Given the description of an element on the screen output the (x, y) to click on. 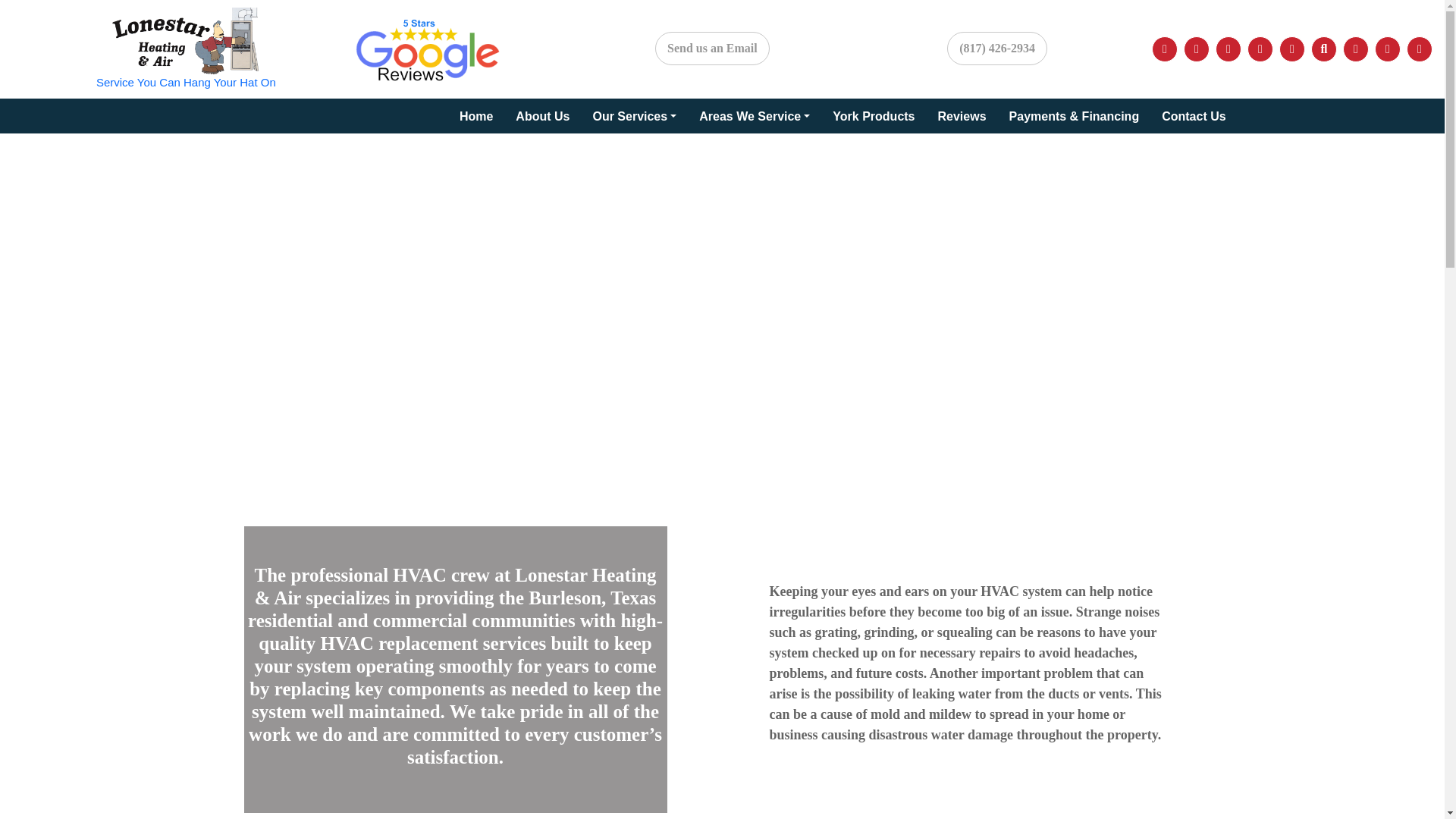
Home (476, 116)
About Us (542, 116)
Areas We Service (753, 116)
Our Services (634, 116)
York Products (873, 116)
Service You Can Hang Your Hat On (186, 48)
Send us an Email (712, 48)
